Given the description of an element on the screen output the (x, y) to click on. 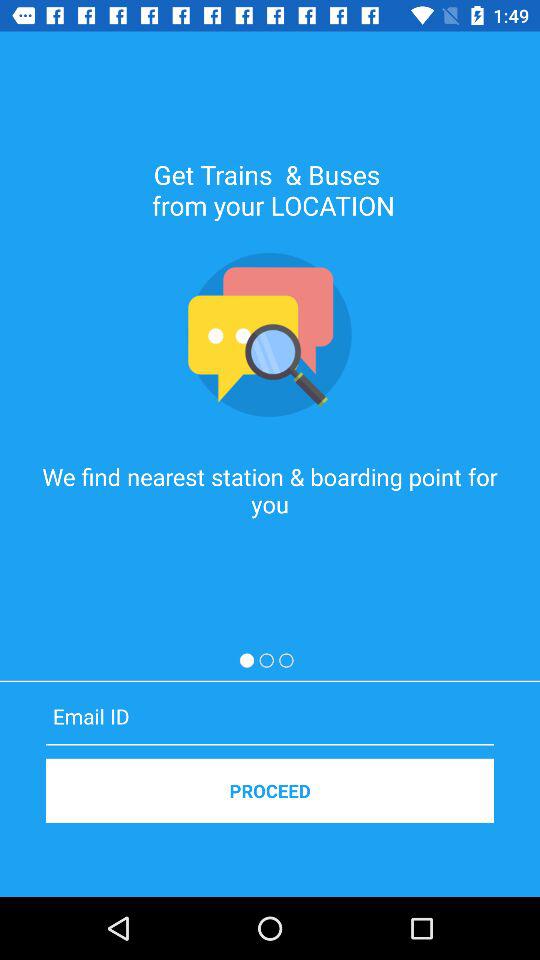
swipe until the proceed icon (269, 790)
